Given the description of an element on the screen output the (x, y) to click on. 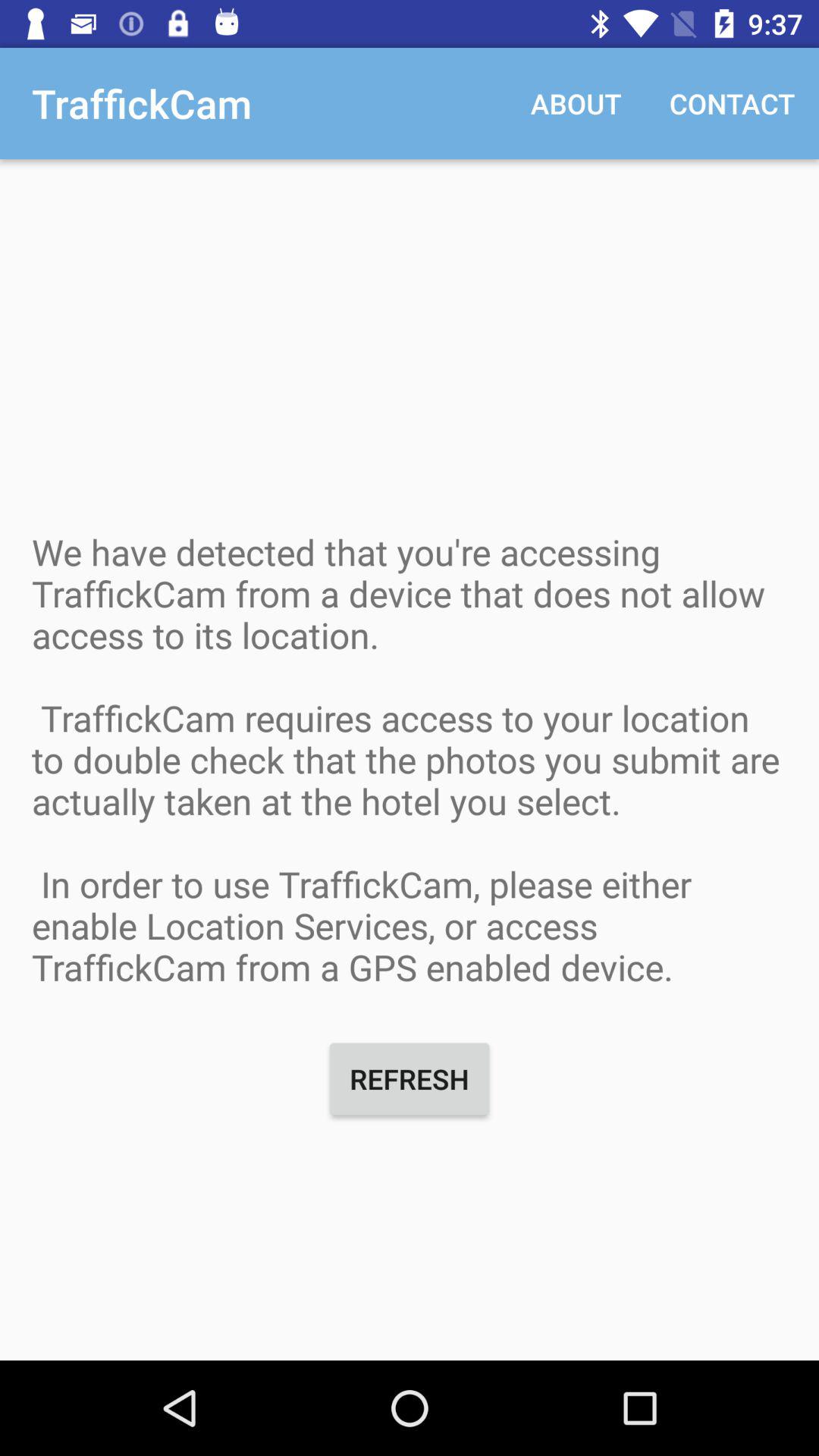
tap the icon above the we have detected icon (575, 103)
